Given the description of an element on the screen output the (x, y) to click on. 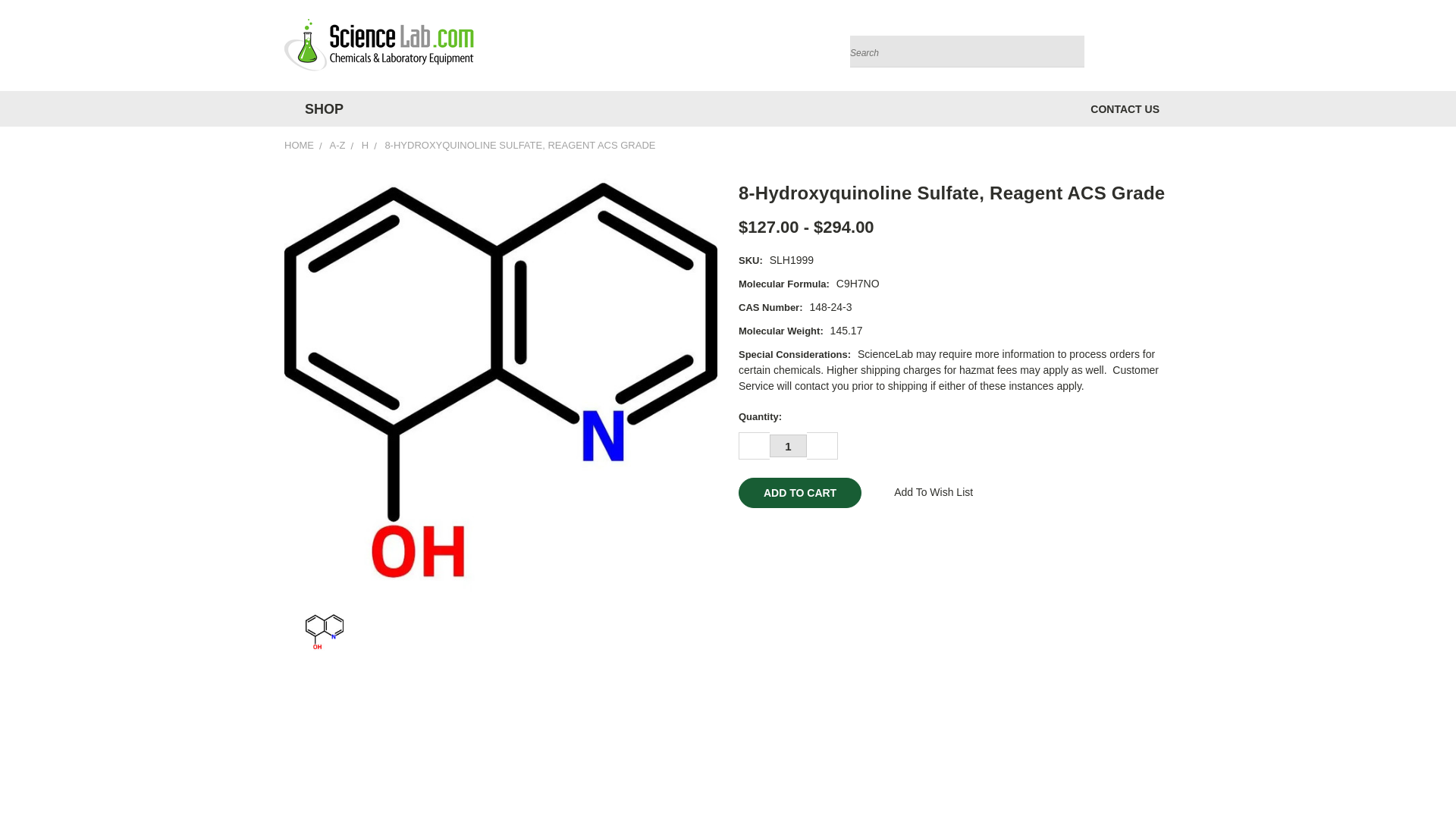
1 (788, 445)
ScienceLab.com (378, 45)
submit (1069, 51)
SHOP (319, 109)
Add to Cart (799, 492)
